Given the description of an element on the screen output the (x, y) to click on. 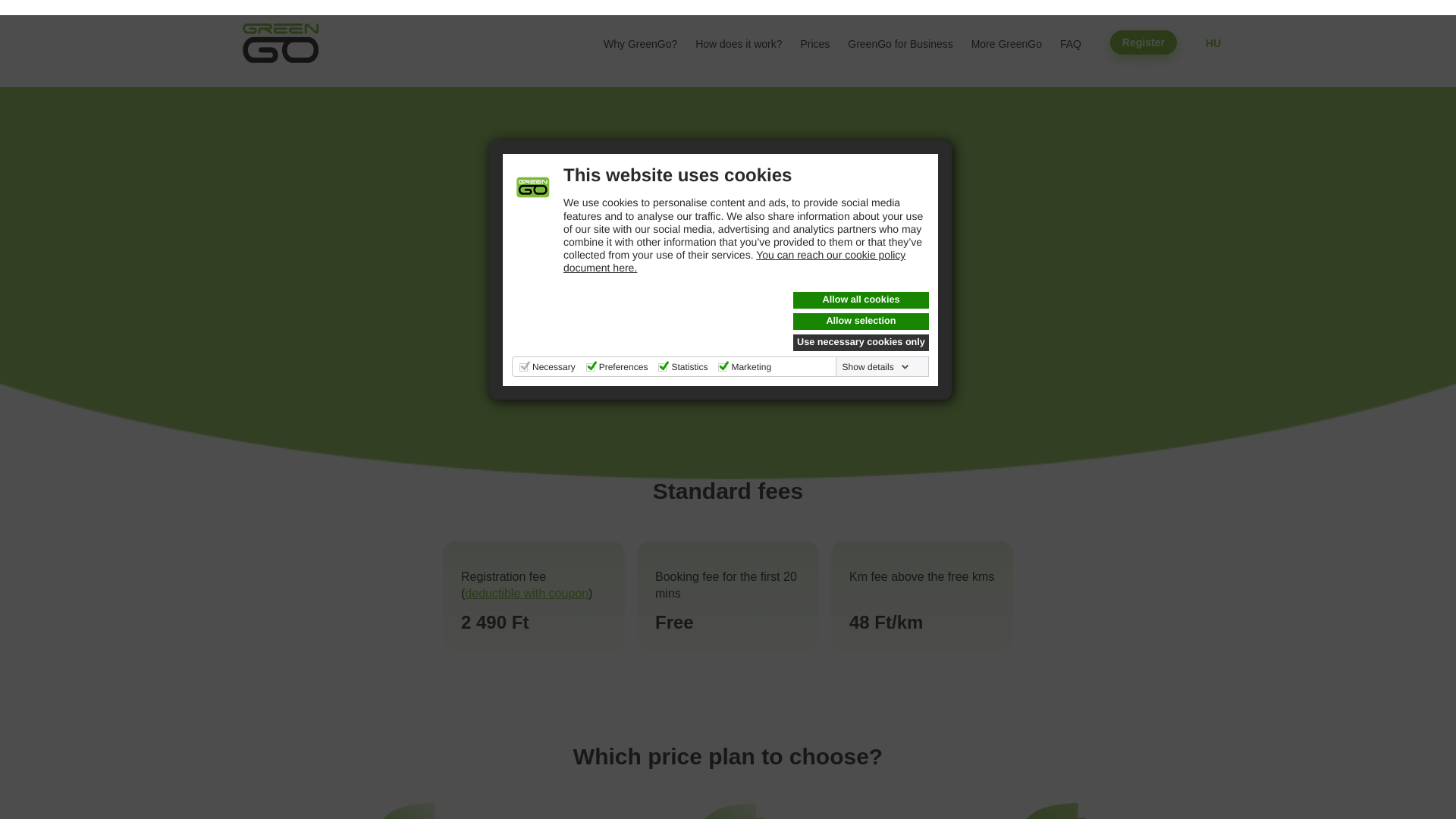
You can reach our cookie policy document here. (734, 260)
Show details (876, 367)
Use necessary cookies only (860, 342)
Allow all cookies (860, 299)
Allow selection (860, 321)
